Given the description of an element on the screen output the (x, y) to click on. 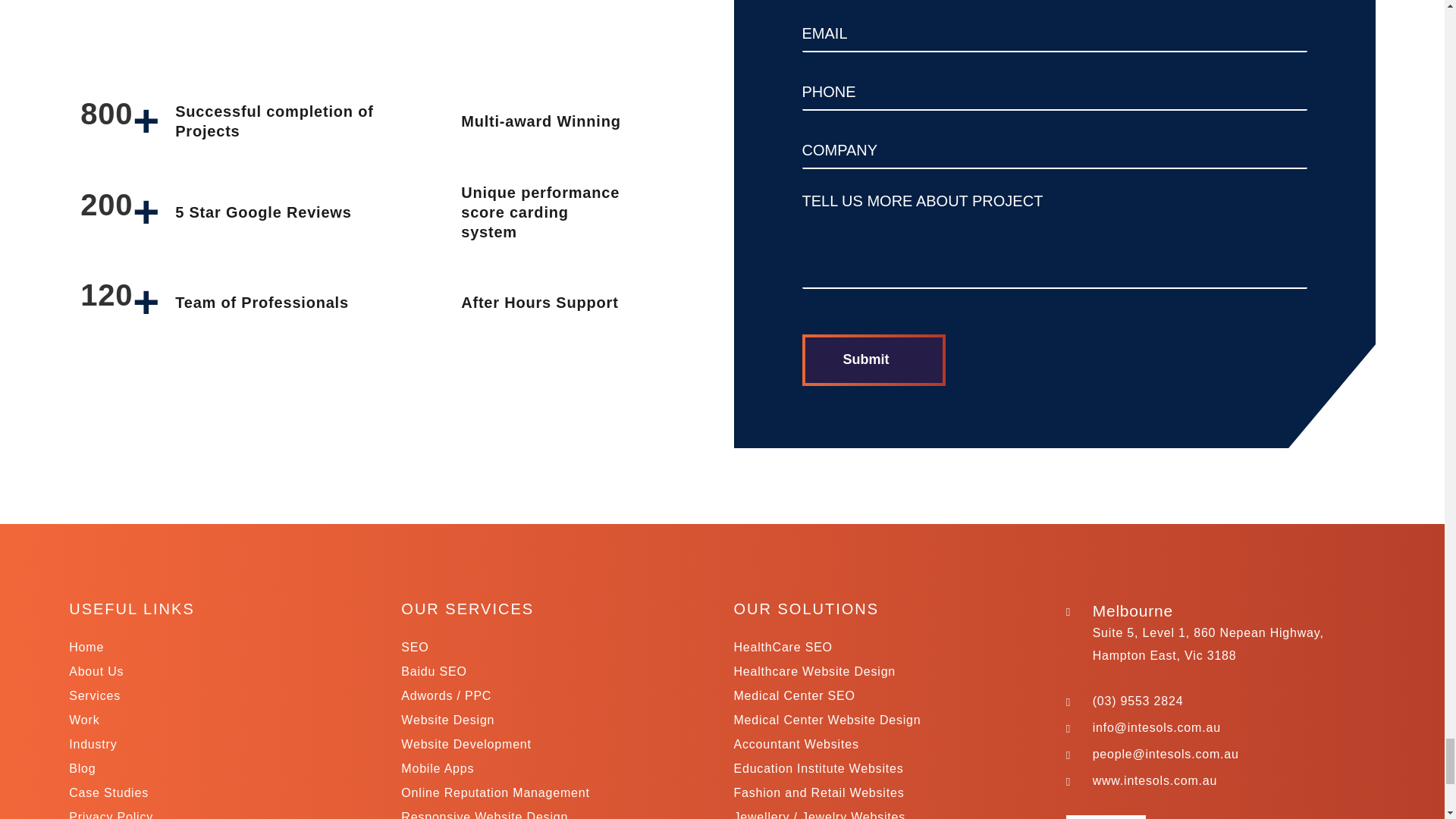
Submit (873, 359)
